Given the description of an element on the screen output the (x, y) to click on. 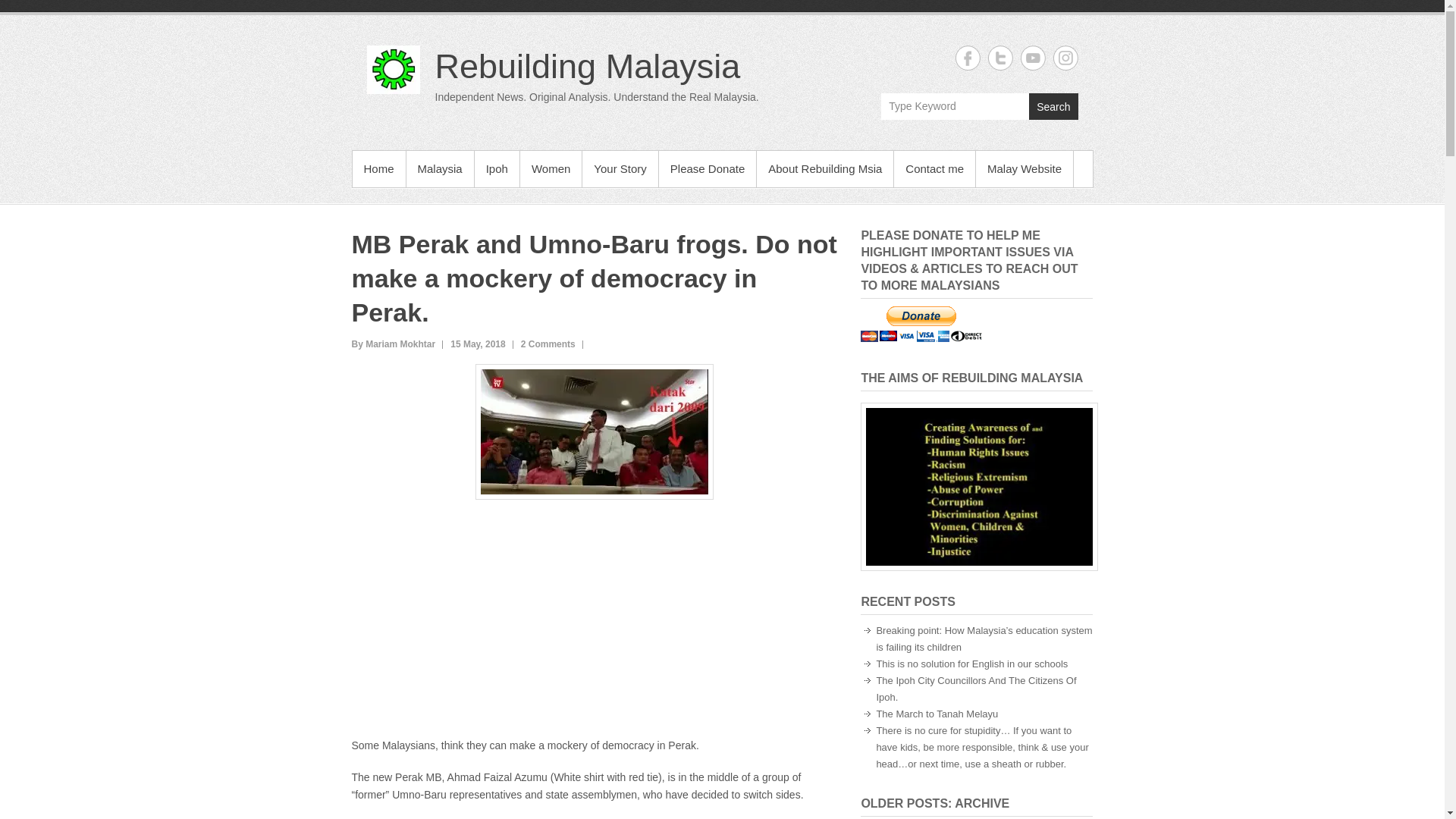
Rebuilding Malaysia on YouTube (1032, 57)
Rebuilding Malaysia Instagram (1064, 57)
By Mariam Mokhtar (393, 344)
Type Keyword (955, 105)
Rebuilding Malaysia Facebook (967, 57)
Type Keyword (955, 105)
About Rebuilding Msia (825, 168)
Type Keyword (955, 105)
Mariam Mokhtar (393, 344)
Search (1053, 106)
